Given the description of an element on the screen output the (x, y) to click on. 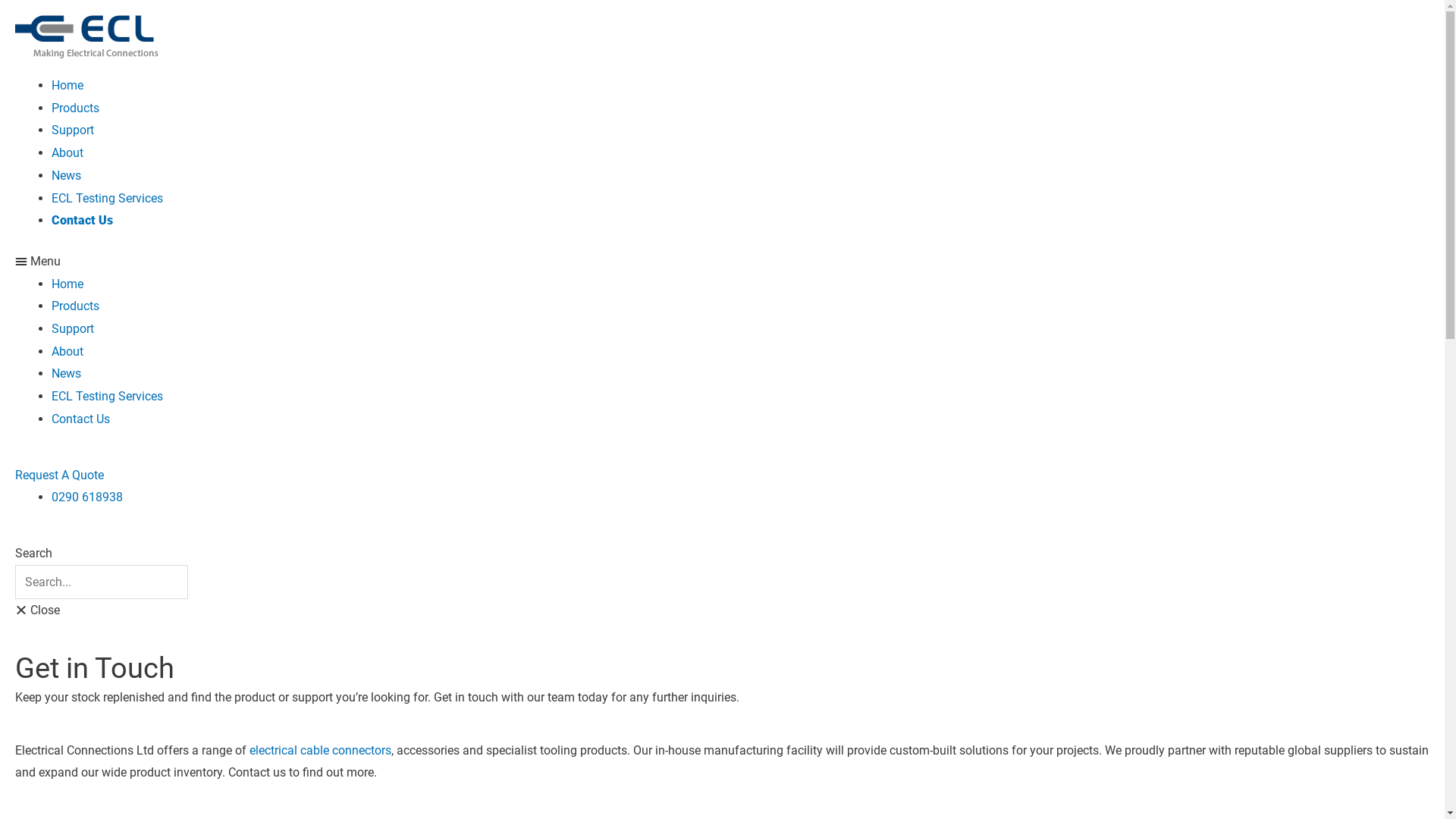
Home Element type: text (67, 283)
Products Element type: text (75, 305)
Support Element type: text (72, 328)
About Element type: text (67, 152)
ECL Testing Services Element type: text (107, 396)
electrical cable connectors Element type: text (320, 750)
About Element type: text (67, 351)
Contact Us Element type: text (80, 418)
ECL Testing Services Element type: text (107, 198)
Products Element type: text (75, 107)
Request A Quote Element type: text (59, 474)
0290 618938 Element type: text (86, 496)
Home Element type: text (67, 85)
Support Element type: text (72, 129)
Contact Us Element type: text (81, 220)
Search Element type: hover (101, 581)
News Element type: text (66, 373)
News Element type: text (66, 175)
